Given the description of an element on the screen output the (x, y) to click on. 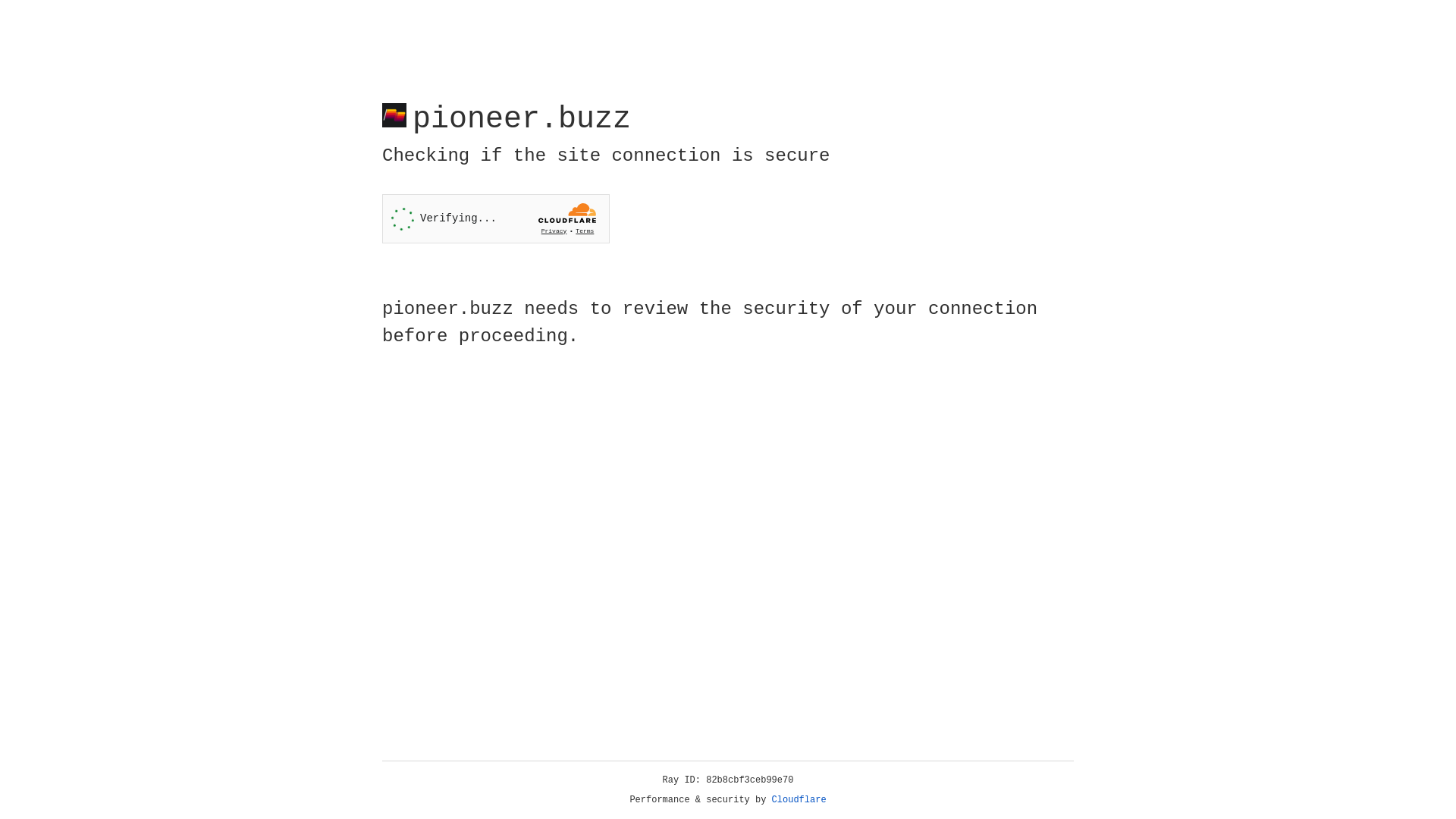
Widget containing a Cloudflare security challenge Element type: hover (495, 218)
Cloudflare Element type: text (798, 799)
